Given the description of an element on the screen output the (x, y) to click on. 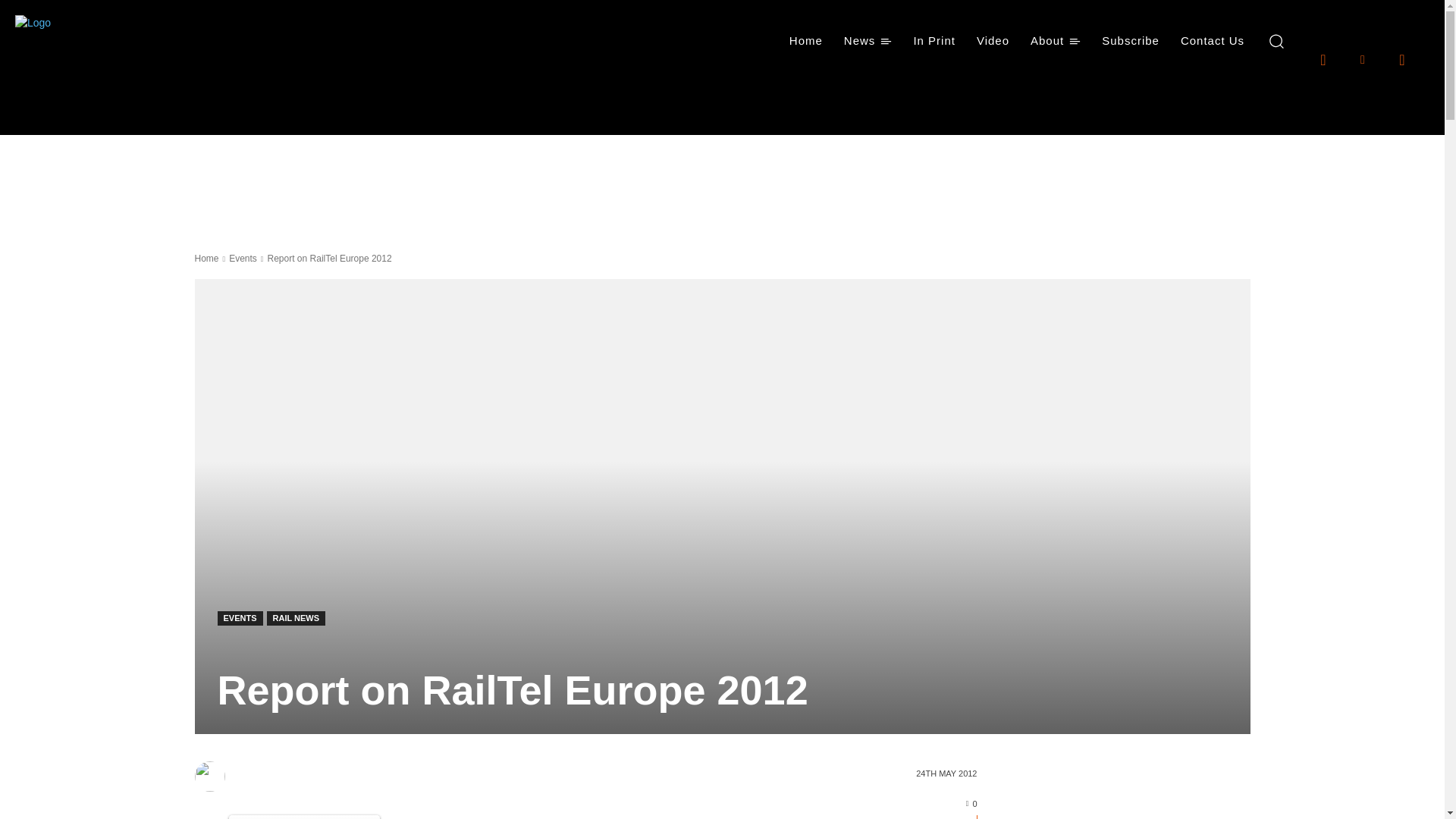
Home (805, 40)
Twitter (1401, 58)
Facebook (1322, 58)
Video (993, 40)
About (1055, 40)
Linkedin (1361, 58)
In Print (934, 40)
News (867, 40)
